Given the description of an element on the screen output the (x, y) to click on. 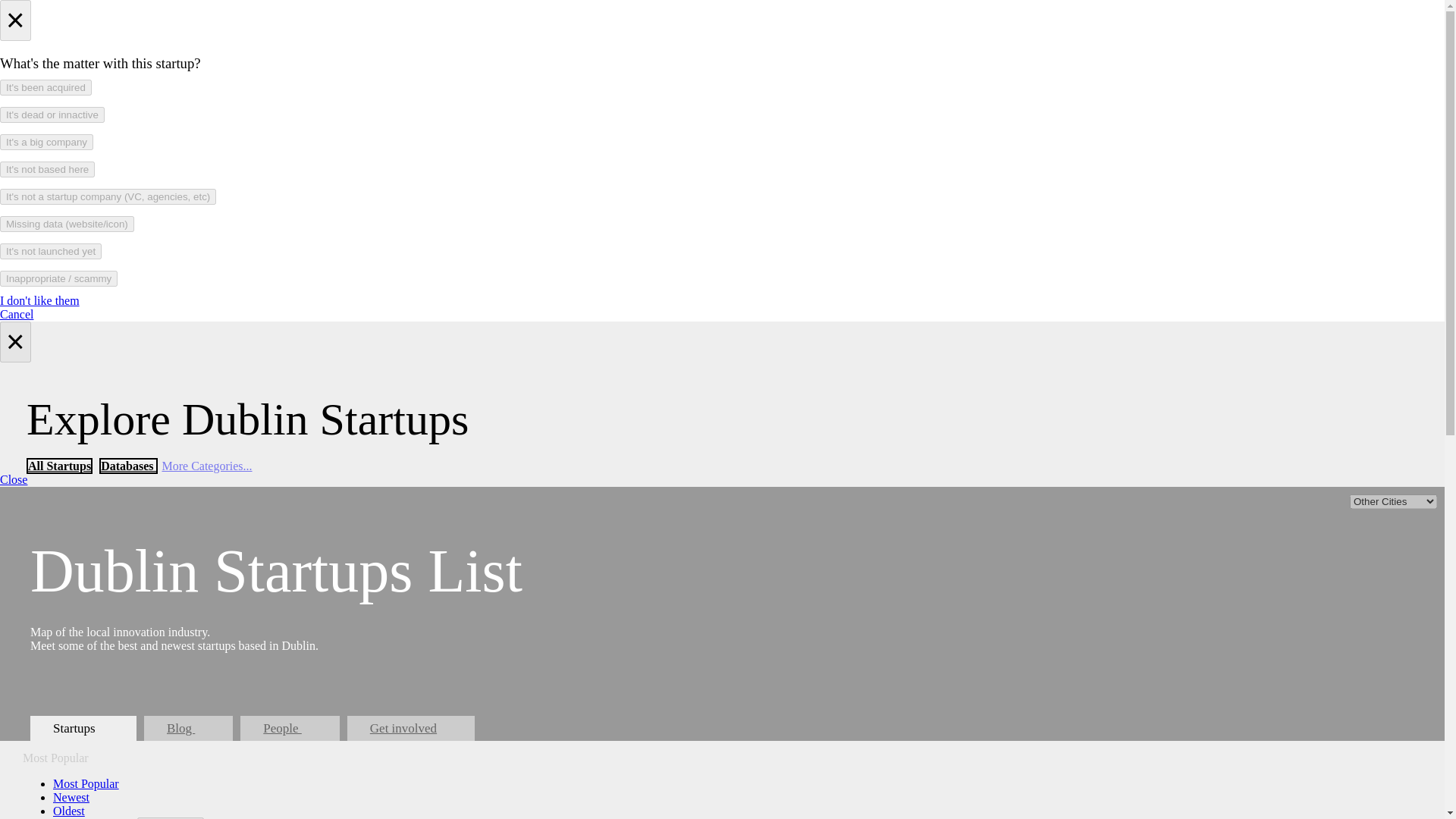
Databases (128, 465)
It's been acquired (45, 87)
All Startups (59, 465)
More Categories... (206, 465)
Close (13, 479)
It's not based here (47, 169)
It's a big company (46, 141)
Cancel (16, 314)
I don't like them (40, 300)
It's not launched yet (50, 251)
It's dead or innactive (52, 114)
